Given the description of an element on the screen output the (x, y) to click on. 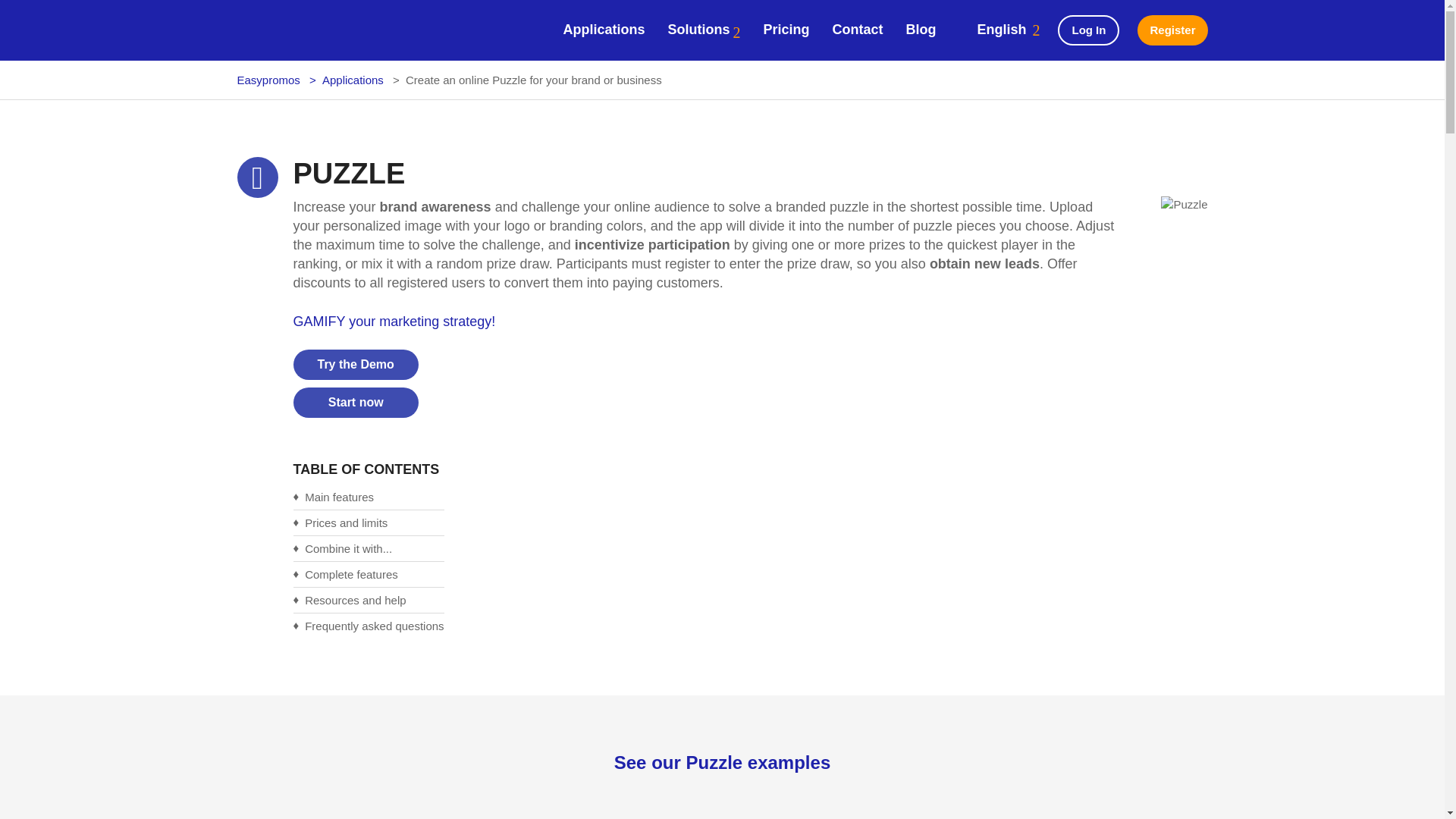
Solutions (702, 29)
easypromos (297, 29)
Applications (603, 29)
Applications (603, 29)
